Given the description of an element on the screen output the (x, y) to click on. 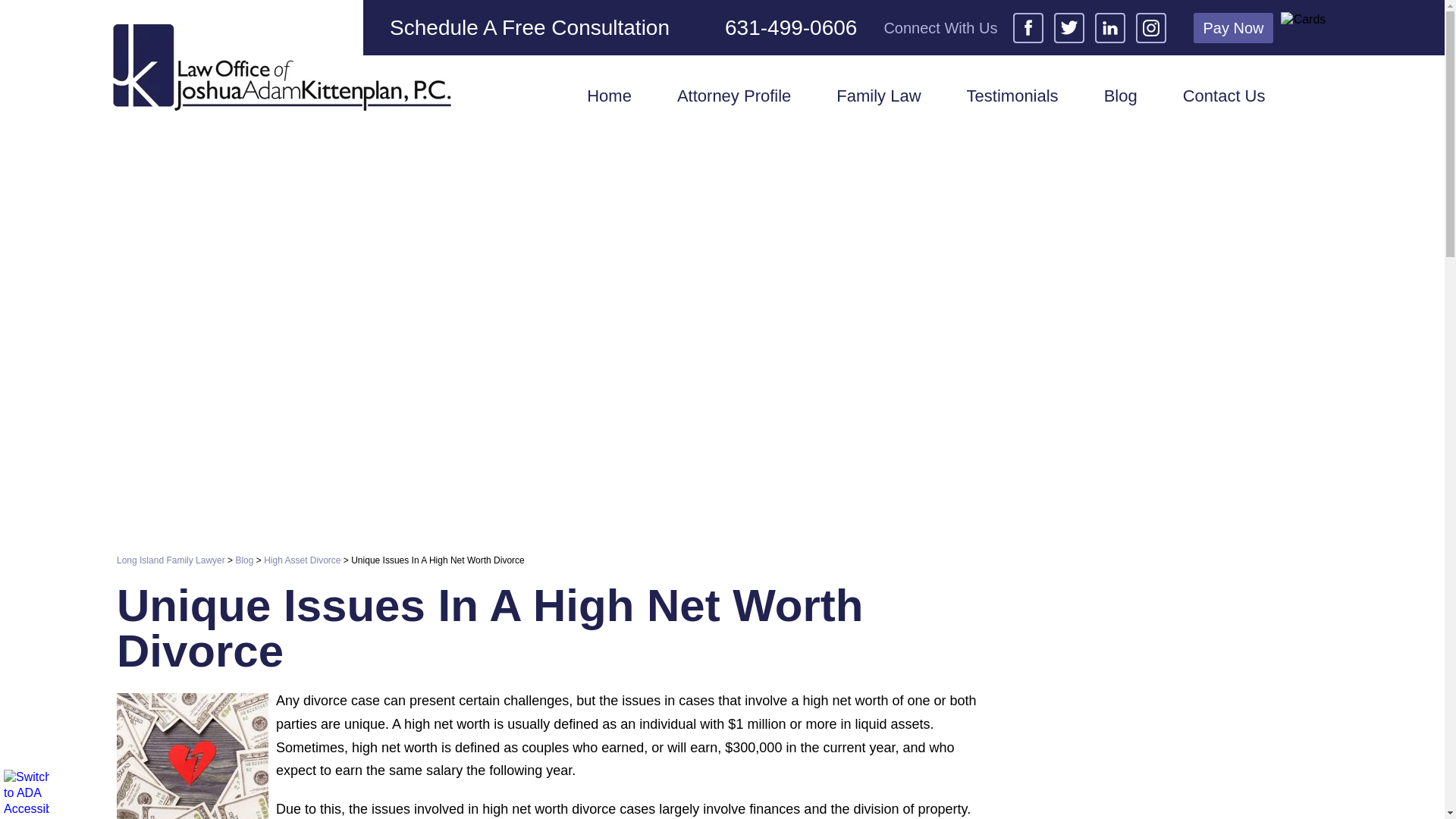
Testimonials (1012, 96)
Family Law (878, 96)
CashDivorce (191, 755)
Home (608, 96)
Attorney Profile (733, 96)
631-499-0606 (776, 26)
Switch to ADA Accessible Website (26, 791)
Pay Now (1232, 27)
